Given the description of an element on the screen output the (x, y) to click on. 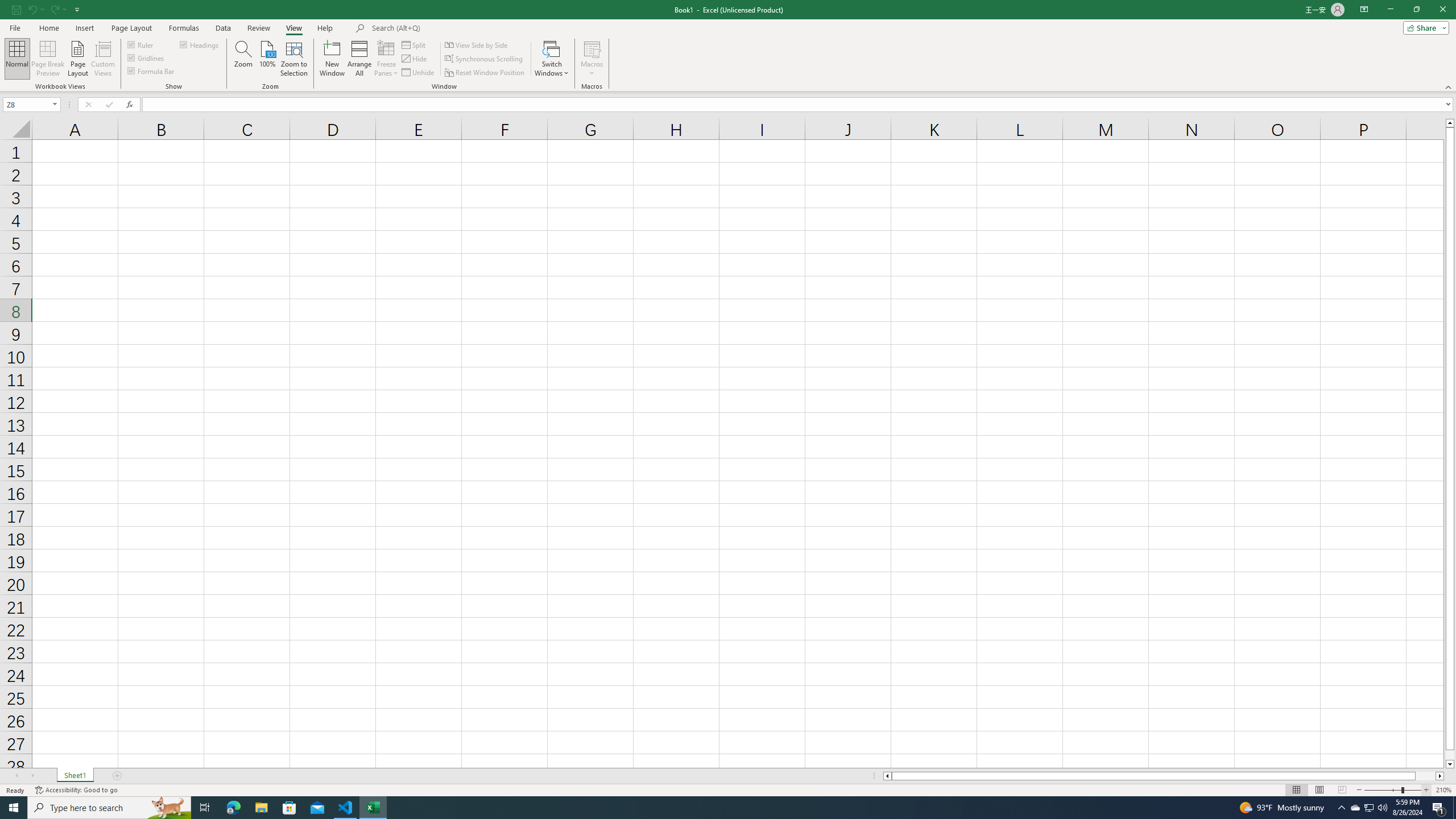
Unhide... (419, 72)
Freeze Panes (386, 58)
Macros (591, 58)
Zoom to Selection (293, 58)
Reset Window Position (485, 72)
